Given the description of an element on the screen output the (x, y) to click on. 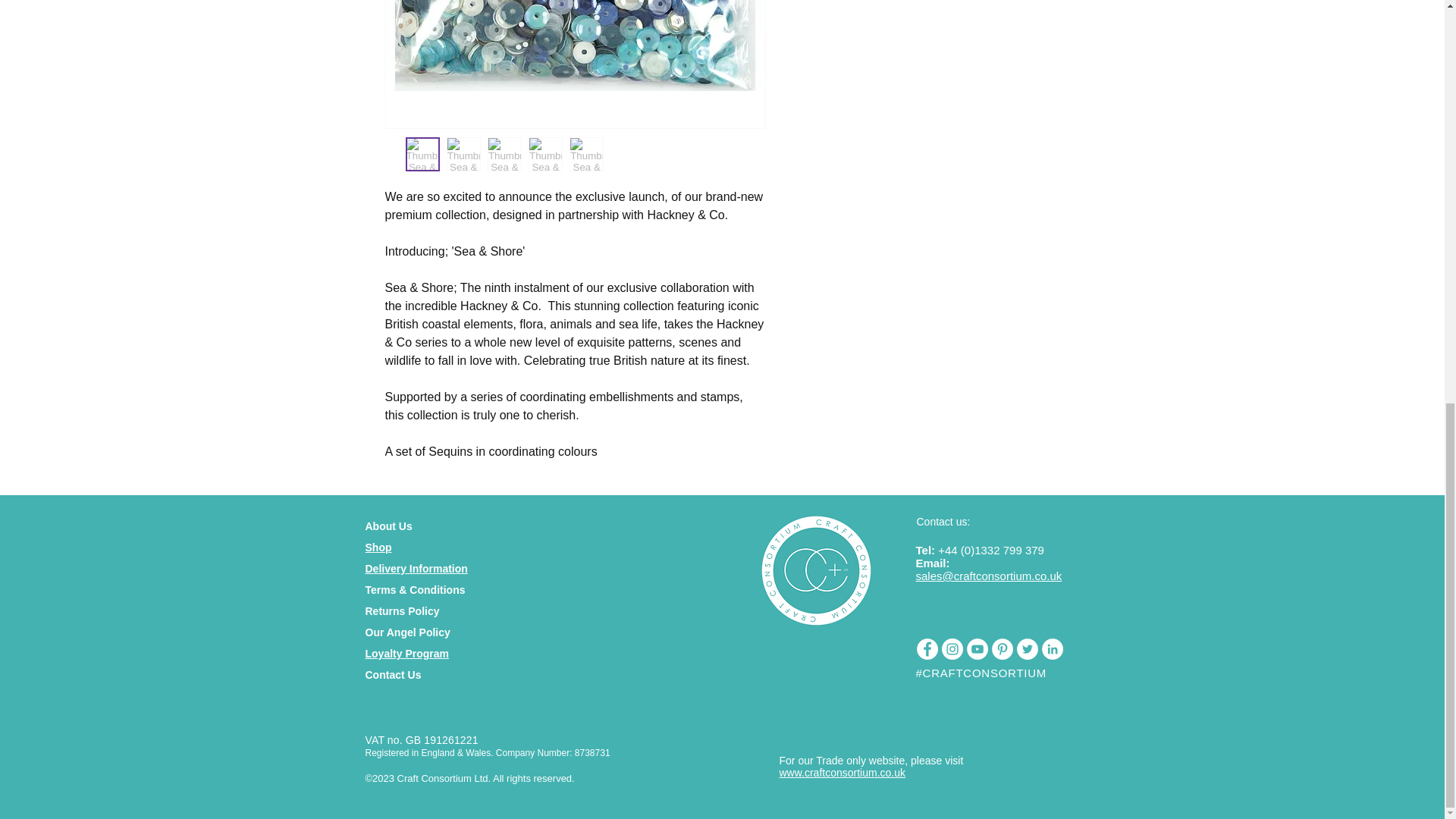
Our Angel Policy (407, 632)
Loyalty Program (406, 653)
Delivery Information (416, 568)
Returns Policy (402, 611)
Contact (384, 674)
About Us (388, 526)
Shop (378, 547)
